Given the description of an element on the screen output the (x, y) to click on. 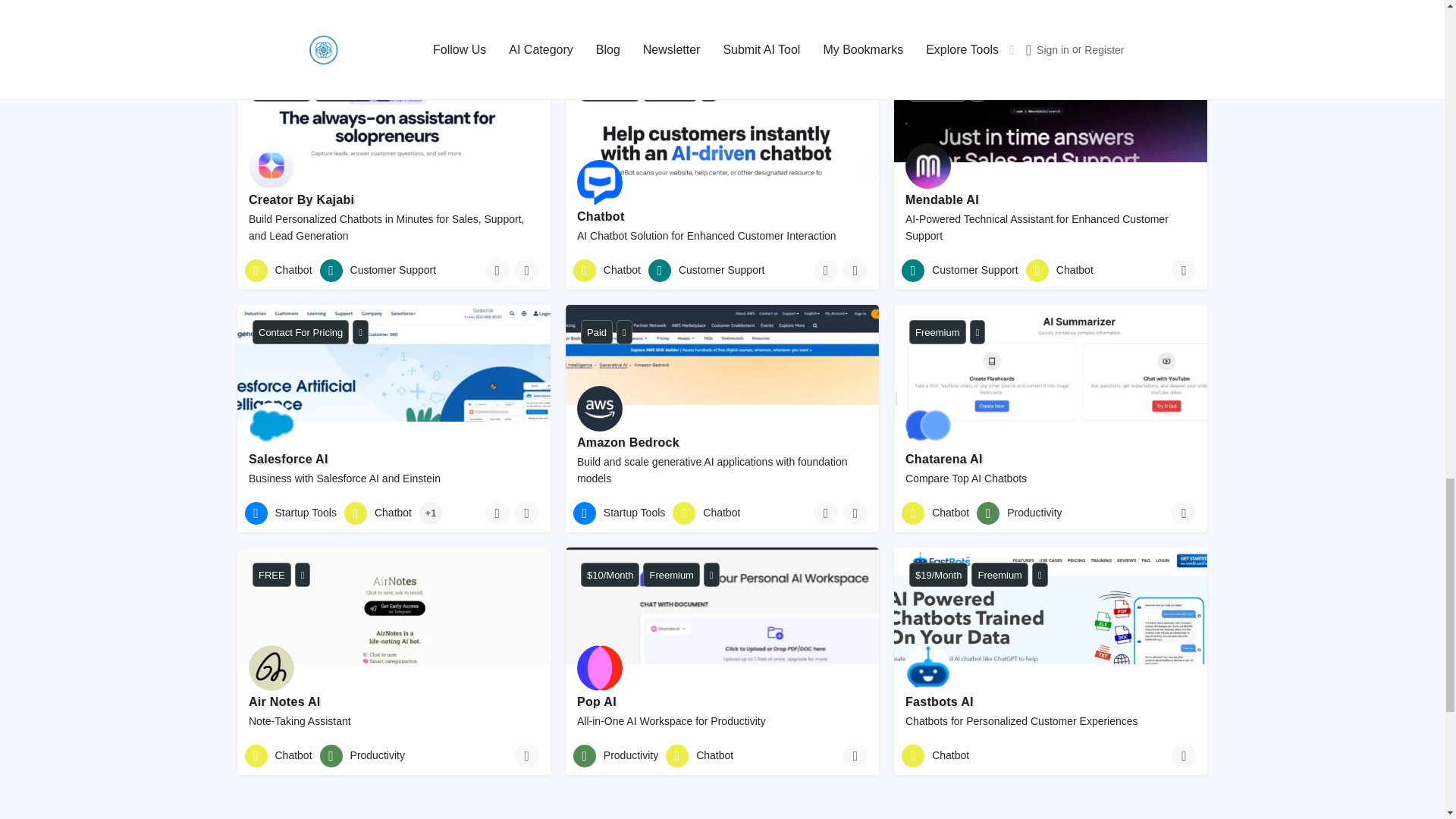
Writer (273, 27)
Visit Creator By Kajabi (382, 89)
Chatbot (344, 27)
Visit Salesforce AI (360, 332)
Visit Mendable AI (392, 4)
Visit Chatbot (977, 89)
